Given the description of an element on the screen output the (x, y) to click on. 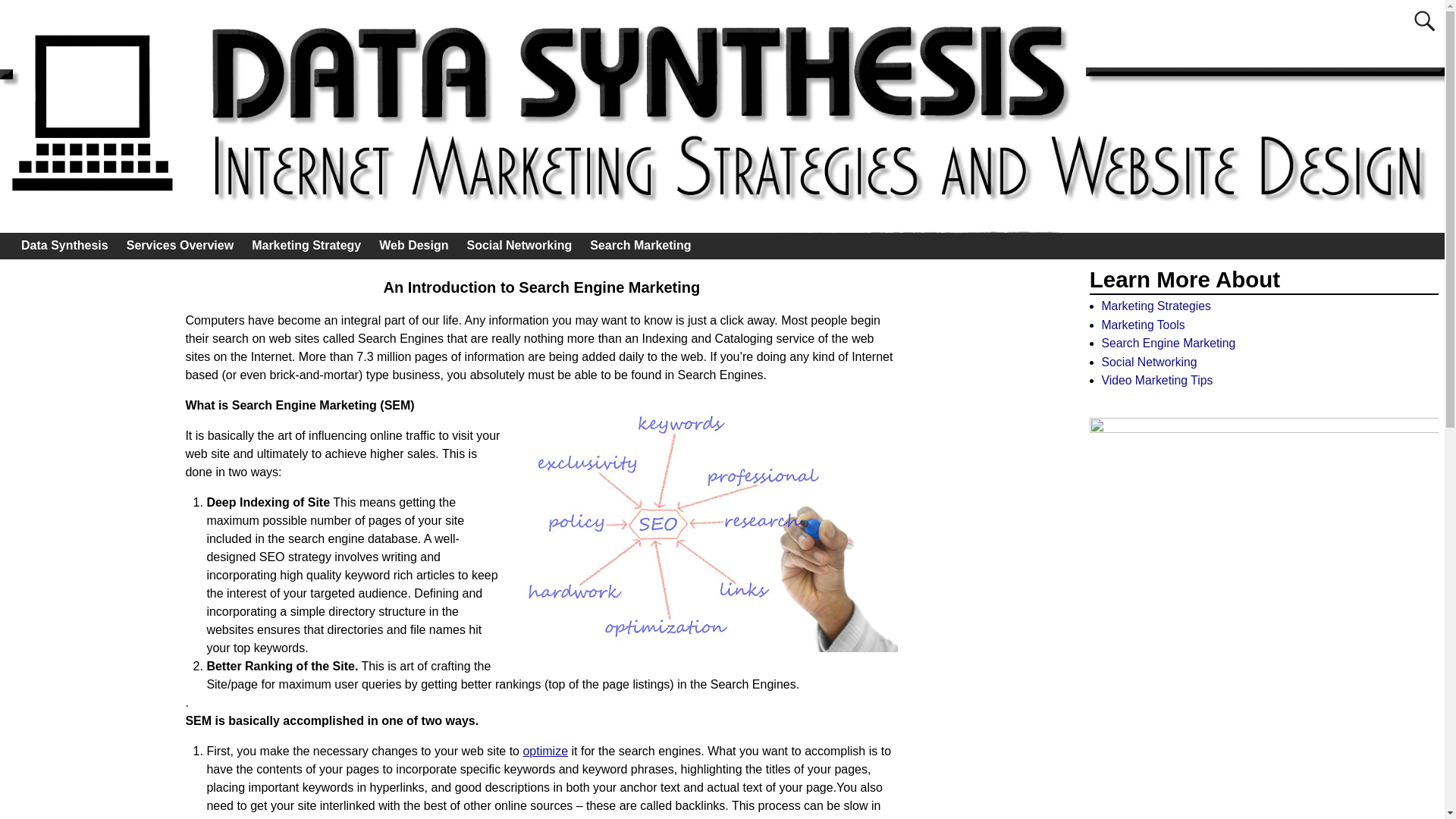
Search Engine Marketing (1167, 342)
Data Synthesis (64, 245)
Web Design (413, 245)
Video Marketing Tips (1156, 379)
Social Networking (518, 245)
optimize (544, 750)
Marketing Strategies (1154, 305)
Search Marketing (640, 245)
Services Overview (180, 245)
Marketing Strategy (306, 245)
Marketing Tools (1142, 324)
Social Networking (1148, 361)
